Given the description of an element on the screen output the (x, y) to click on. 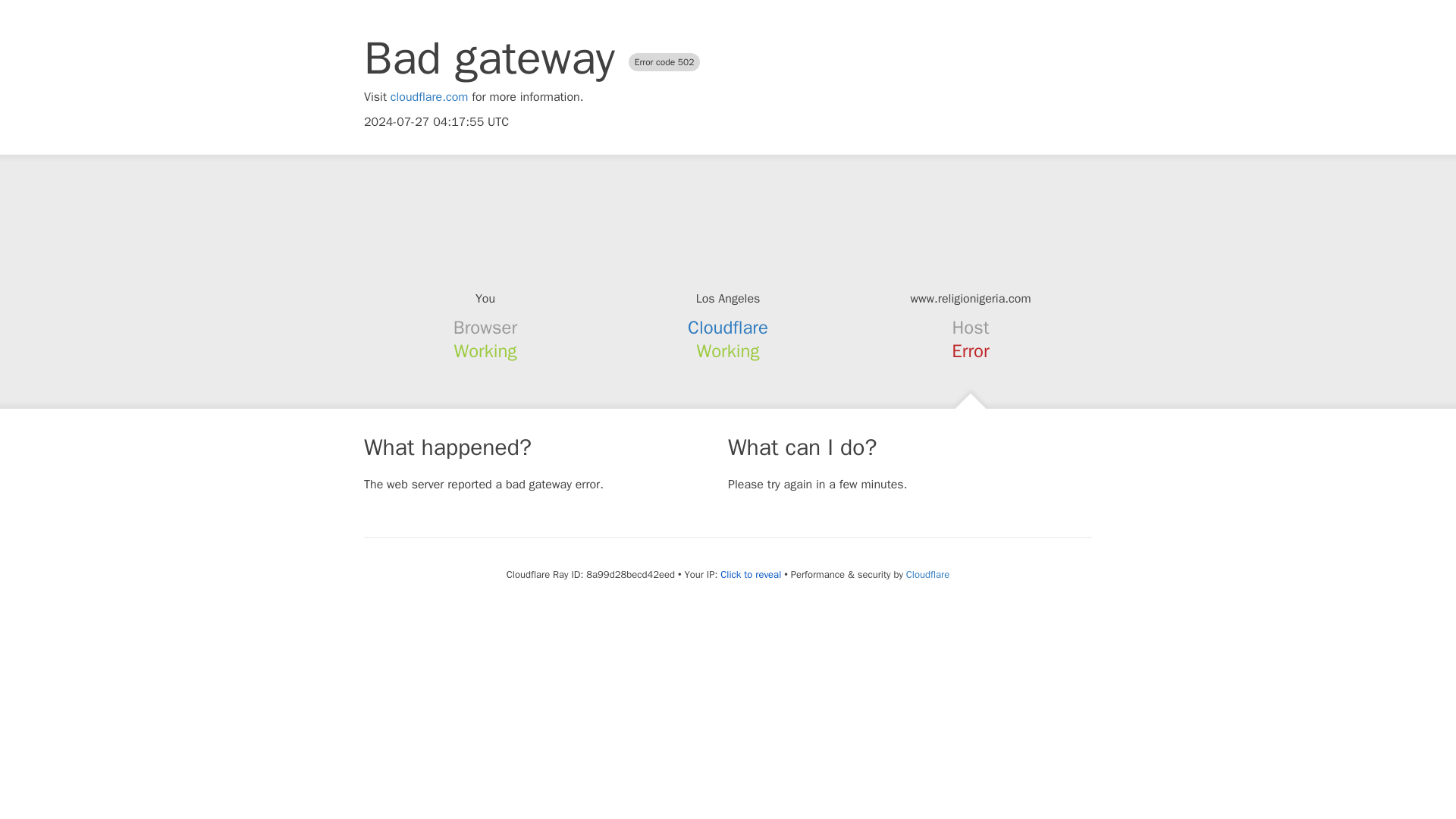
Cloudflare (727, 327)
Click to reveal (750, 574)
Cloudflare (927, 574)
cloudflare.com (429, 96)
